Given the description of an element on the screen output the (x, y) to click on. 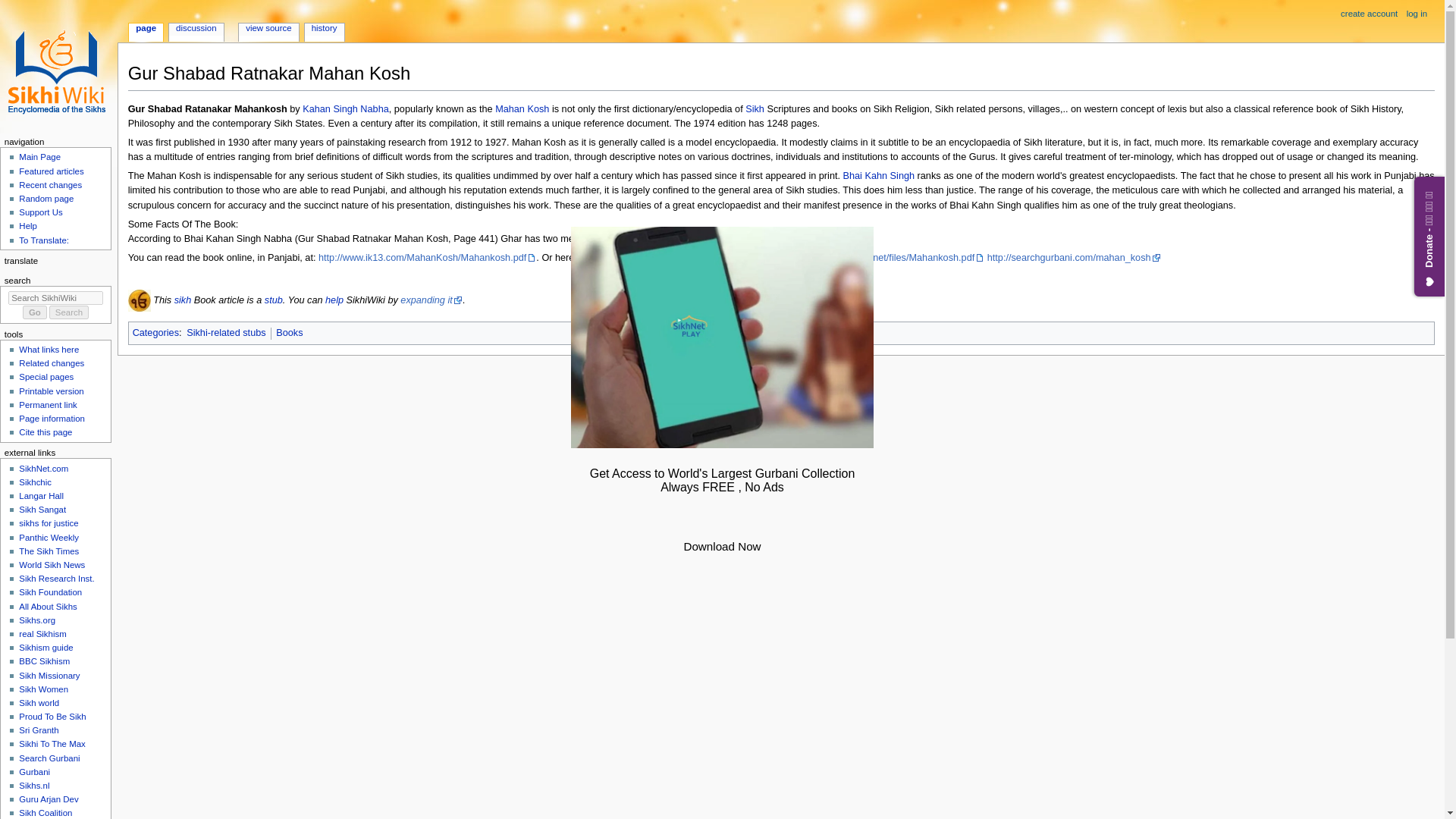
SikhiWiki:Perfect stub article (273, 299)
Sikh (754, 109)
log in (1416, 14)
Support Us (40, 212)
Featured articles (50, 171)
Bhai Kahn Singh (879, 175)
Mahan Kosh (521, 109)
view source (268, 29)
Category:Sikhi-related stubs (225, 332)
Sikh (183, 299)
To Translate: (43, 239)
sikh (183, 299)
history (323, 29)
Random page (46, 198)
create account (1368, 14)
